Given the description of an element on the screen output the (x, y) to click on. 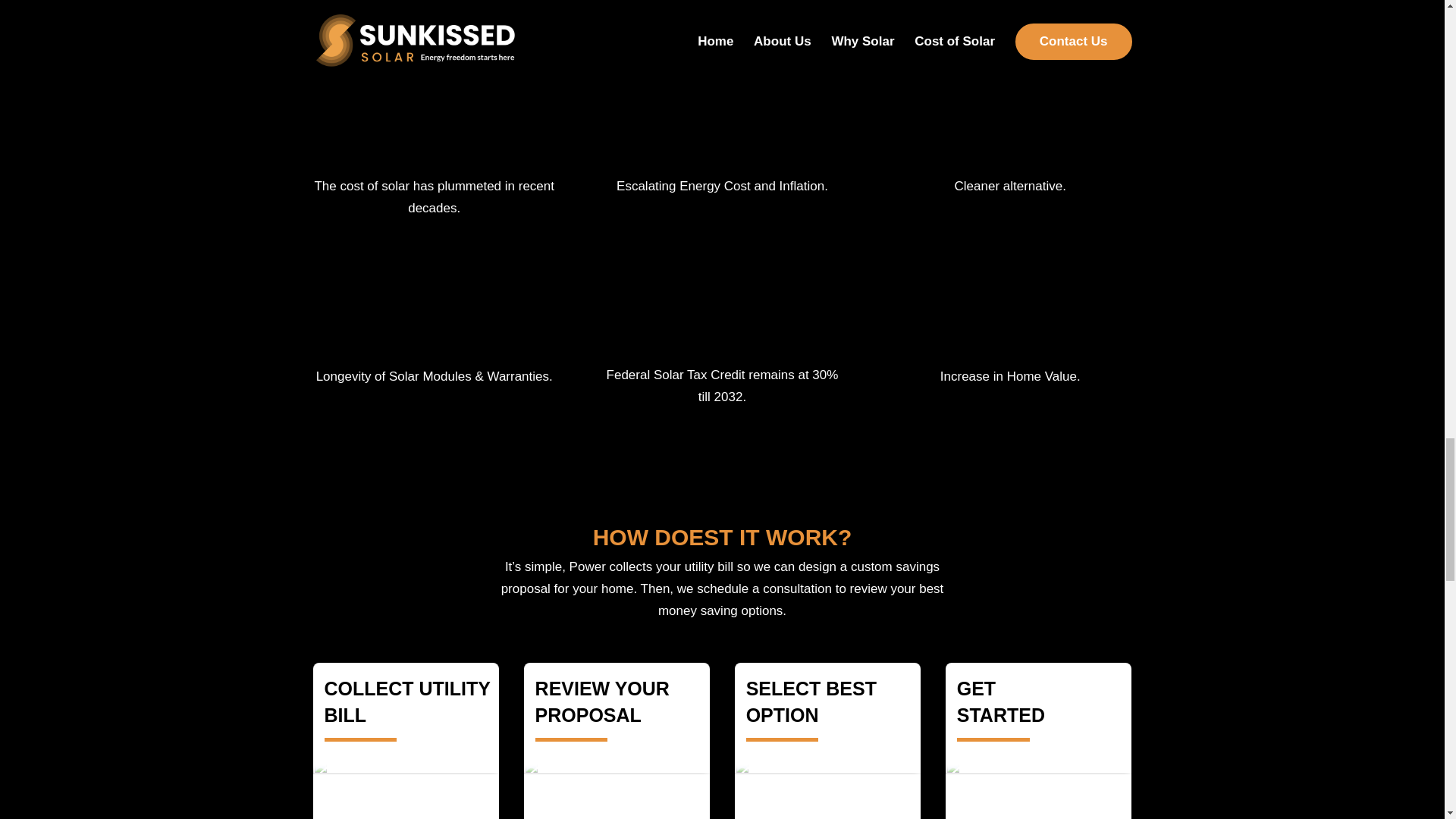
1x (406, 789)
2x copy (617, 789)
3 (828, 789)
4 (1038, 789)
